Given the description of an element on the screen output the (x, y) to click on. 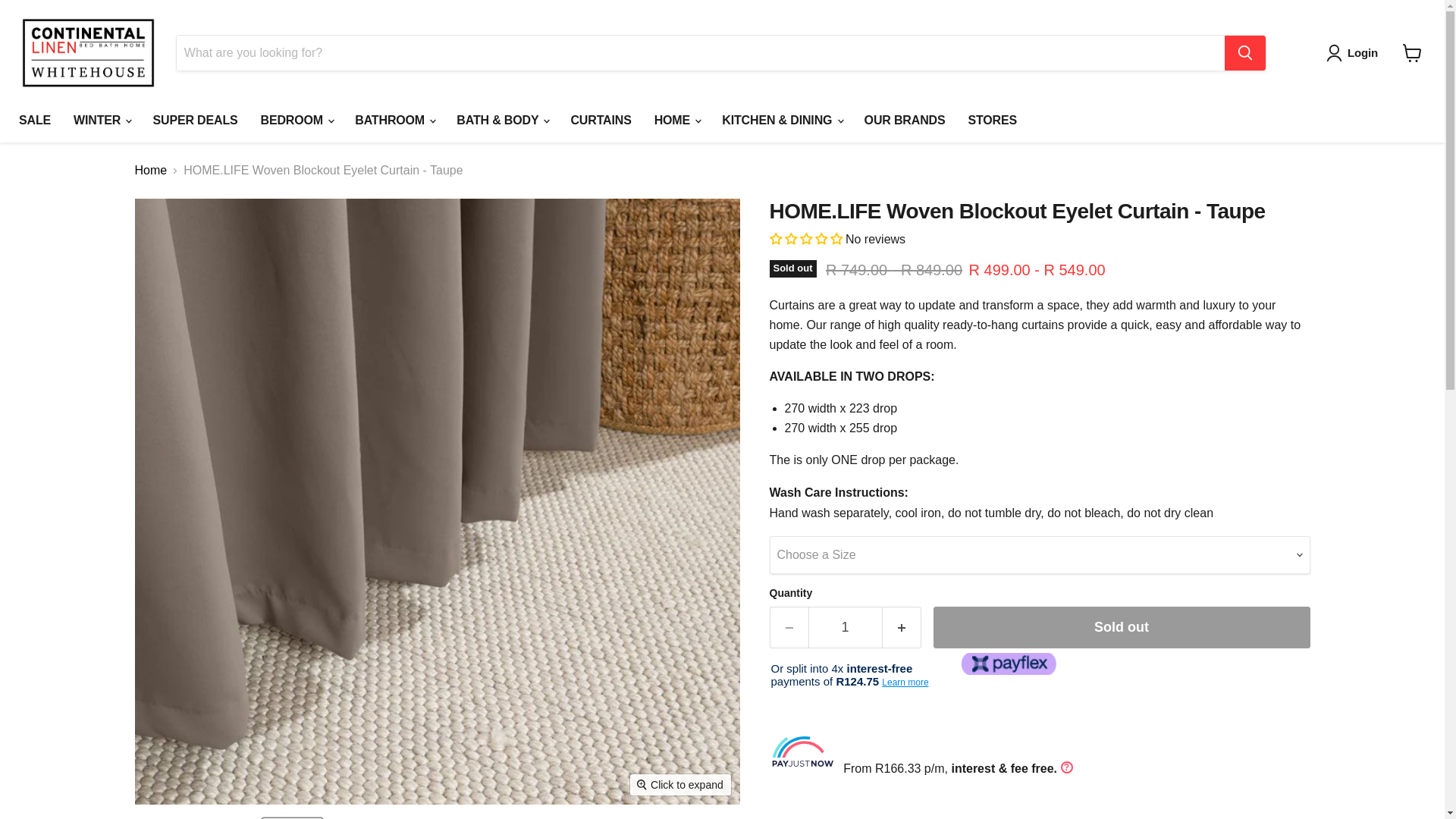
View cart (1411, 52)
Login (1355, 53)
SALE (34, 120)
SUPER DEALS (194, 120)
1 (845, 627)
